Given the description of an element on the screen output the (x, y) to click on. 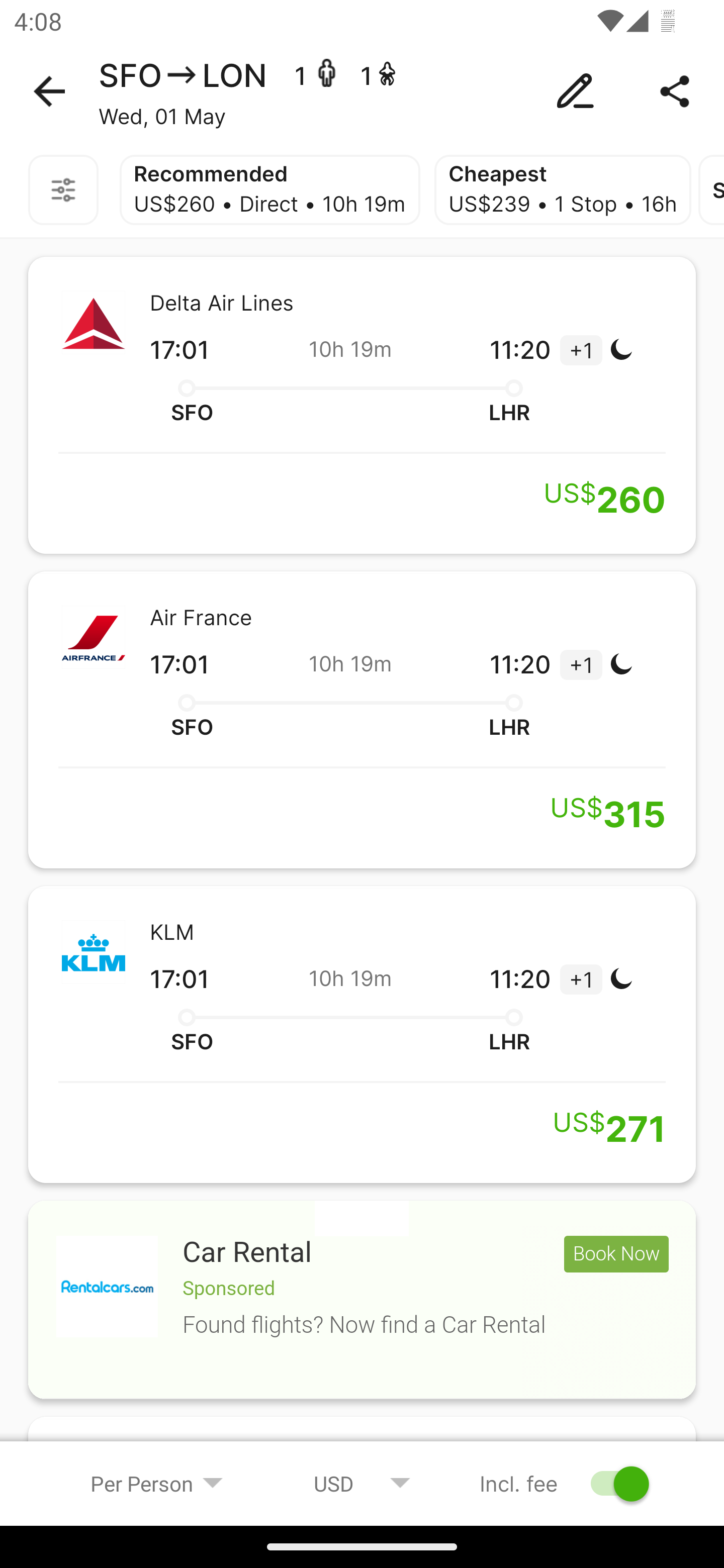
SFO LON   1 -   1 - Wed, 01 May (361, 91)
Recommended  US$260 • Direct • 10h 19m (269, 190)
Cheapest US$239 • 1 Stop • 16h (562, 190)
Delta Air Lines 17:01 10h 19m 11:20 SFO LHR +1 (361, 405)
Air France 17:01 10h 19m 11:20 SFO LHR +1 (361, 719)
KLM 17:01 10h 19m 11:20 SFO LHR +1 (361, 1033)
Per Person (156, 1482)
USD (361, 1482)
